Given the description of an element on the screen output the (x, y) to click on. 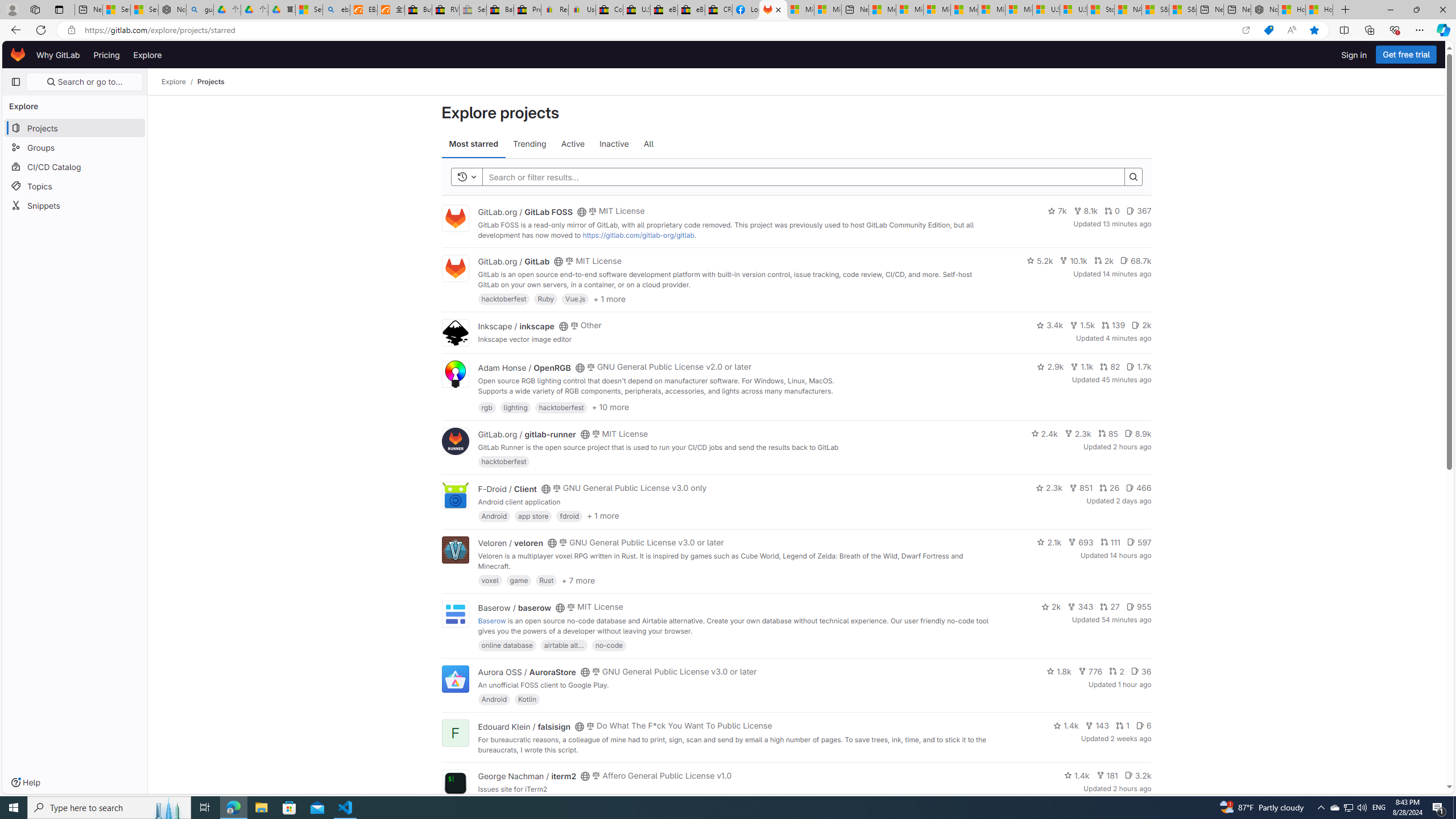
1.5k (1082, 325)
6 (1143, 725)
Sign in (1353, 54)
Microsoft account | Privacy (909, 9)
GitLab.org / GitLab FOSS (524, 211)
All (648, 143)
rgb (486, 407)
app store (533, 515)
airtable alt... (563, 644)
fdroid (569, 515)
Why GitLab (58, 54)
Inkscape / inkscape (515, 325)
